Given the description of an element on the screen output the (x, y) to click on. 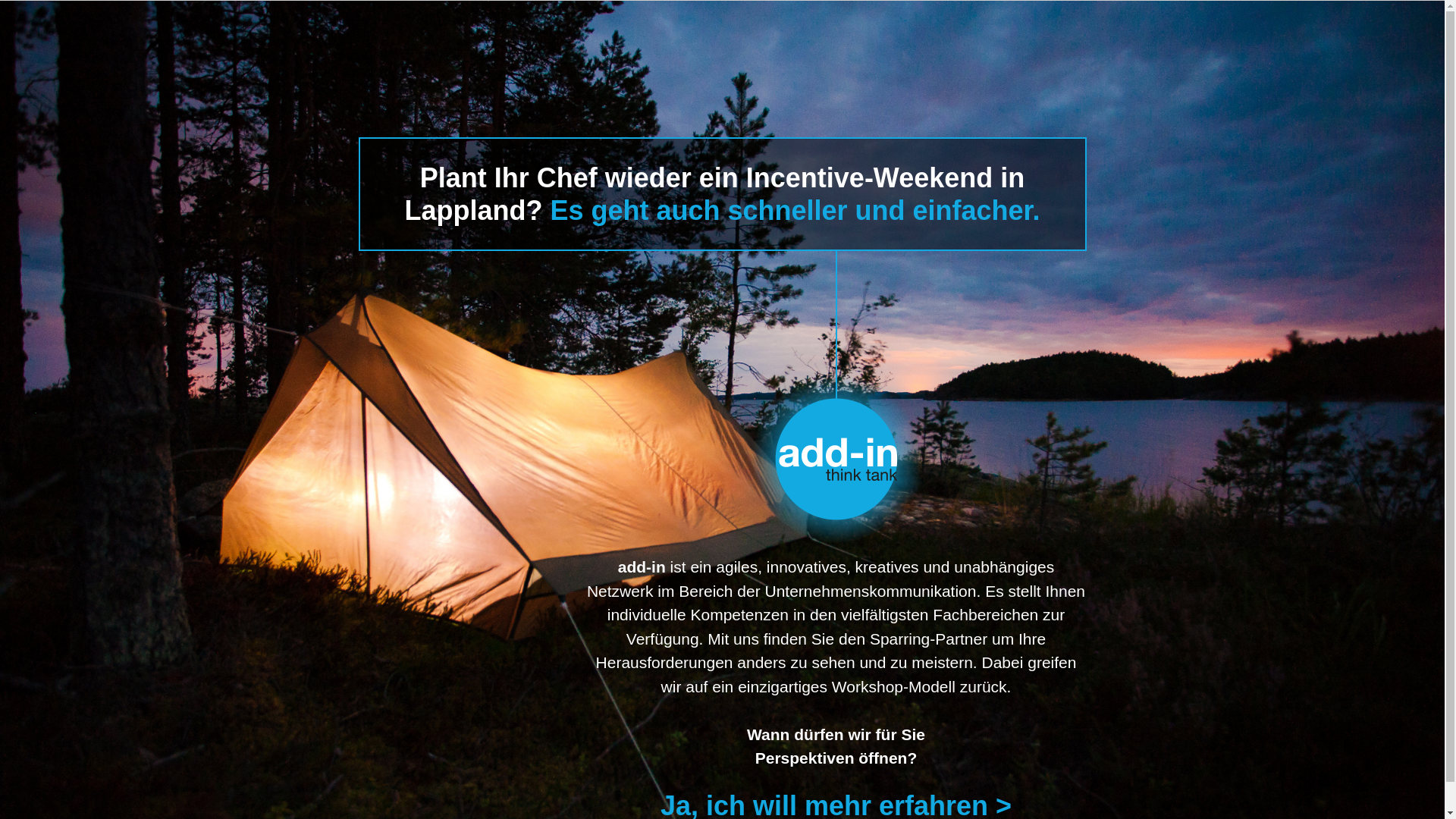
Kommunikationspflege by add-in.ch Element type: hover (836, 396)
